Given the description of an element on the screen output the (x, y) to click on. 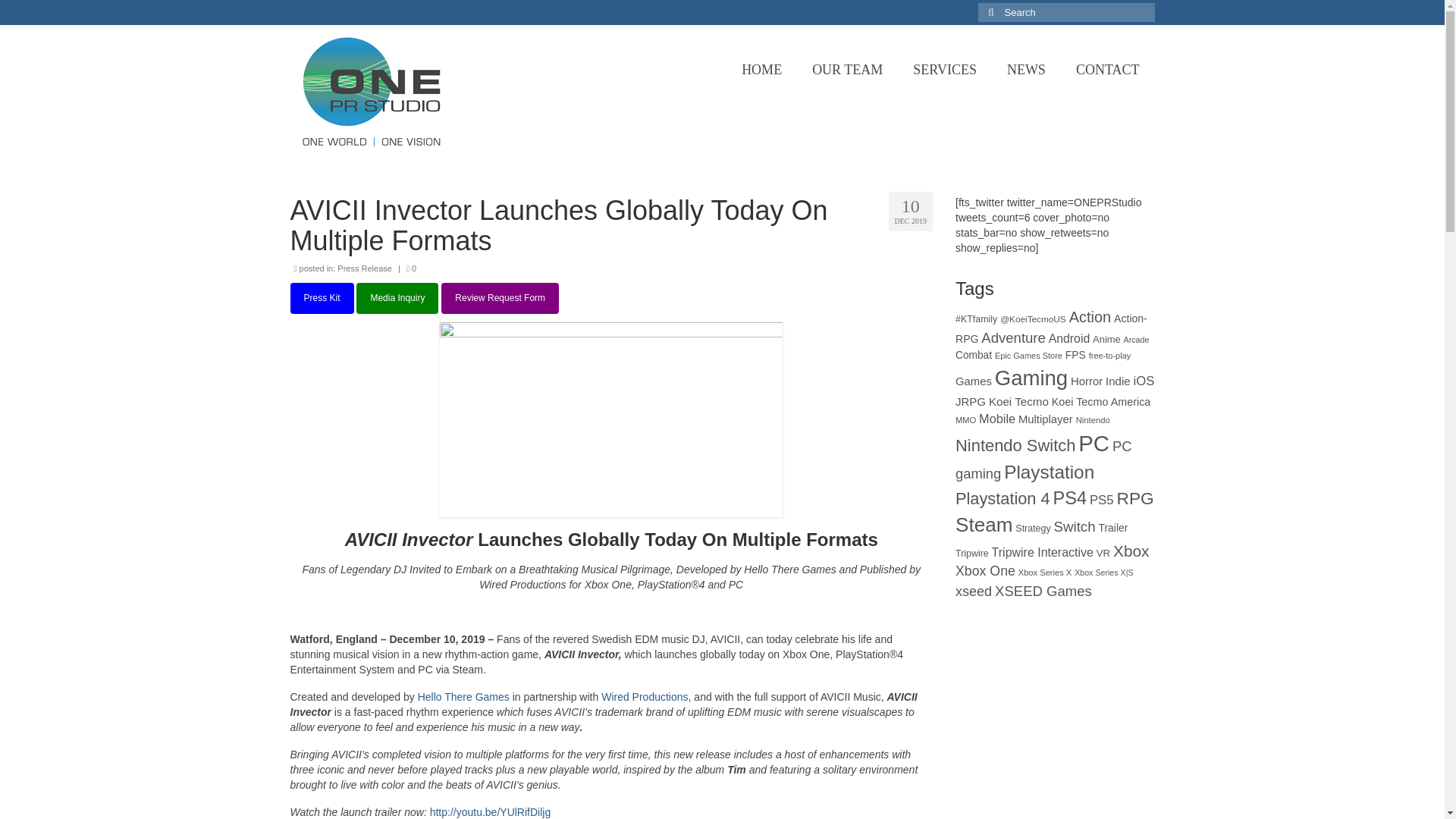
OUR TEAM (847, 69)
CONTACT (1107, 69)
Wired Productions (644, 696)
NEWS (1026, 69)
Hello There Games (463, 696)
Media Inquiry (397, 297)
HOME (761, 69)
SERVICES (944, 69)
Press Kit (321, 297)
Press Release (364, 267)
Review Request Form (500, 297)
